Given the description of an element on the screen output the (x, y) to click on. 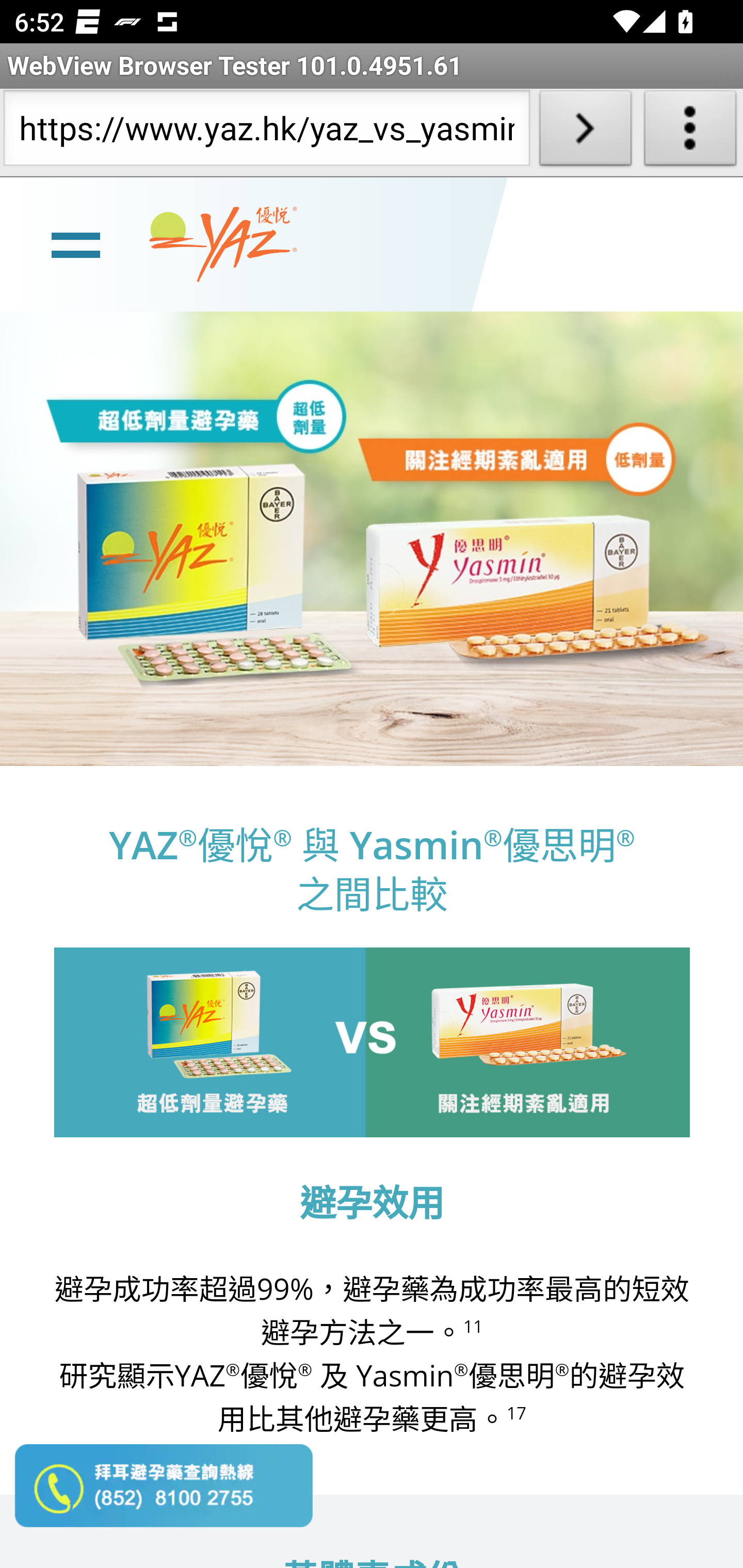
Load URL (585, 132)
About WebView (690, 132)
www.yaz (222, 244)
line Toggle burger menu (75, 242)
